Given the description of an element on the screen output the (x, y) to click on. 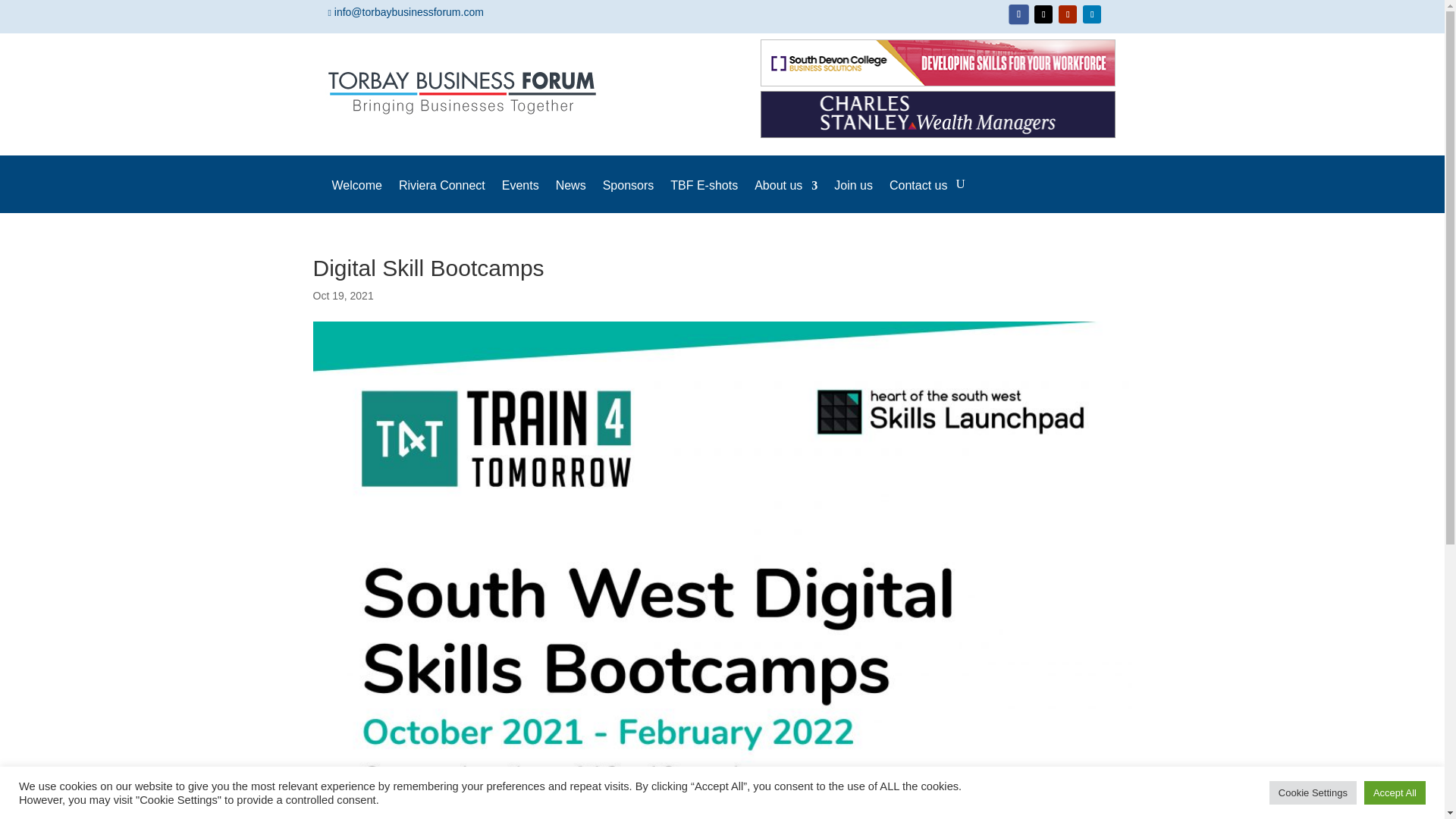
CsxTBF-468x60px-Jan23-v1 (938, 114)
Sponsors (627, 196)
Welcome (356, 196)
sdc-business (938, 62)
Contact us (918, 196)
Events (520, 196)
TBF E-shots (703, 196)
About us (785, 196)
Join us (853, 196)
TBF-logo3 (464, 92)
Follow on Youtube (1067, 13)
Riviera Connect (441, 196)
Follow on LinkedIn (1091, 13)
Follow on Facebook (1018, 13)
Follow on X (1042, 13)
